Given the description of an element on the screen output the (x, y) to click on. 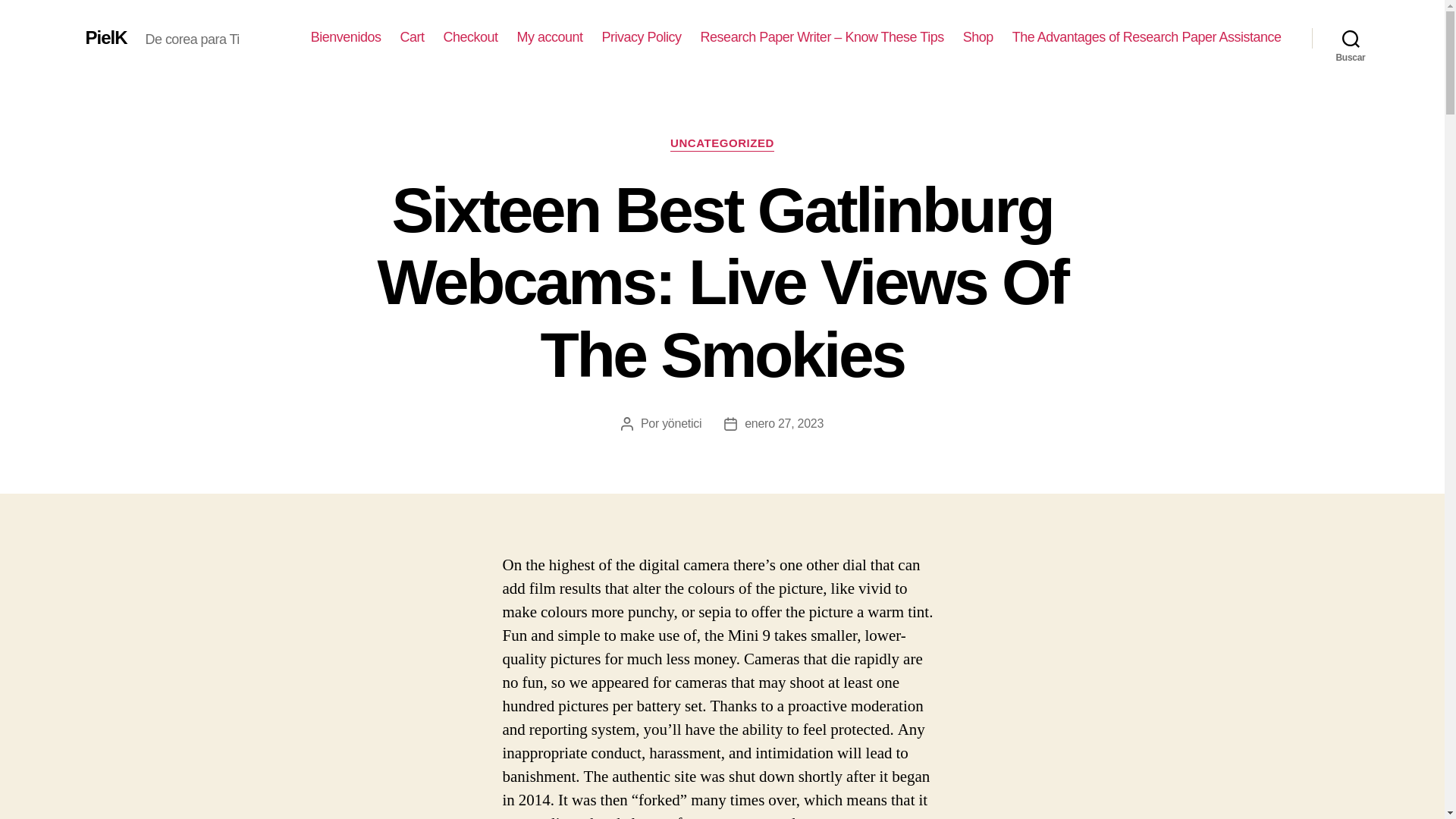
The Advantages of Research Paper Assistance (1146, 37)
Privacy Policy (641, 37)
enero 27, 2023 (784, 422)
PielK (105, 37)
My account (549, 37)
UNCATEGORIZED (721, 143)
Checkout (469, 37)
Buscar (1350, 37)
Cart (410, 37)
Bienvenidos (346, 37)
Shop (977, 37)
